Given the description of an element on the screen output the (x, y) to click on. 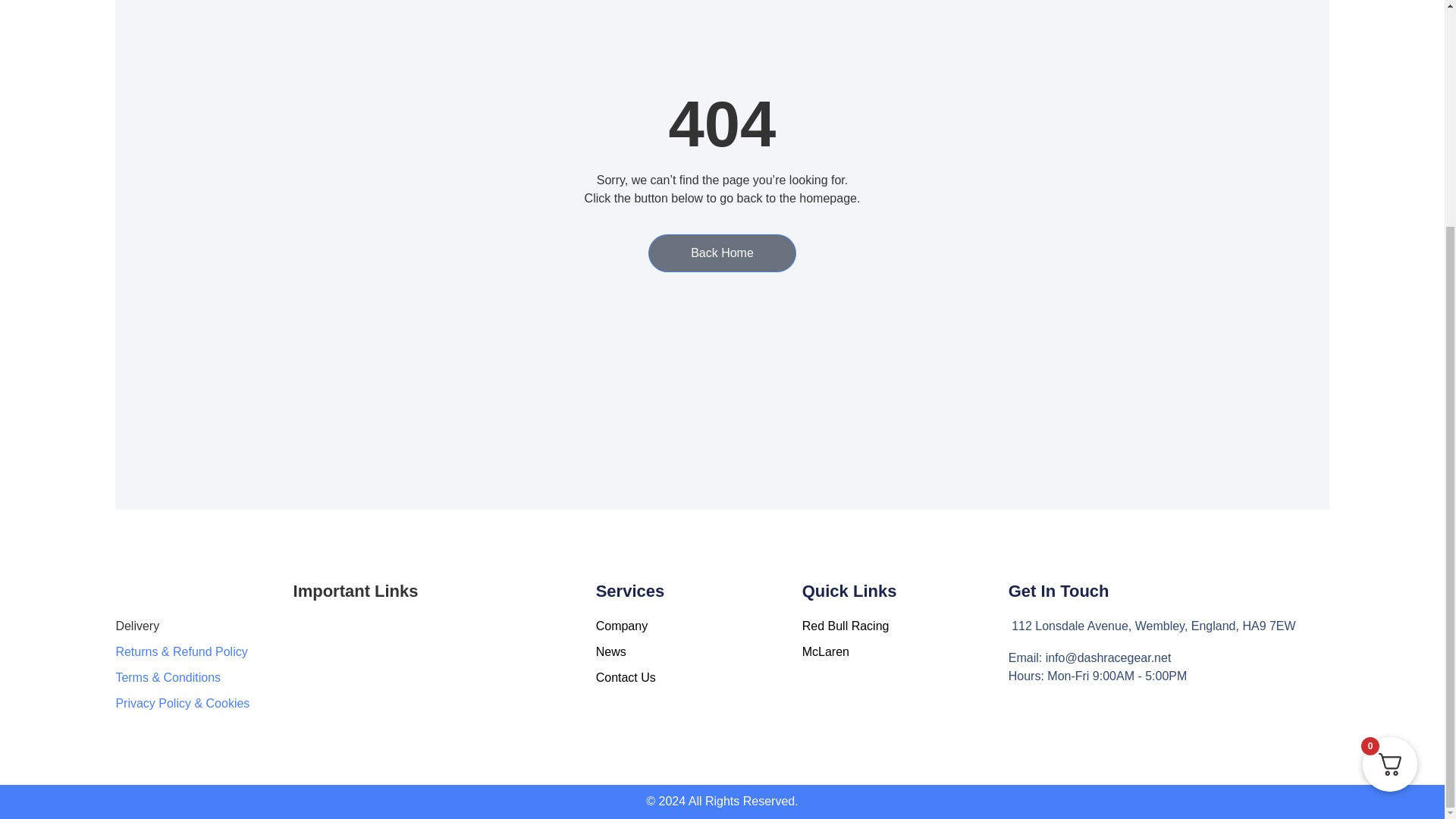
News (698, 651)
Company (698, 626)
Contact Us (698, 678)
Back Home (721, 252)
McLaren (905, 651)
Red Bull Racing (905, 626)
